Given the description of an element on the screen output the (x, y) to click on. 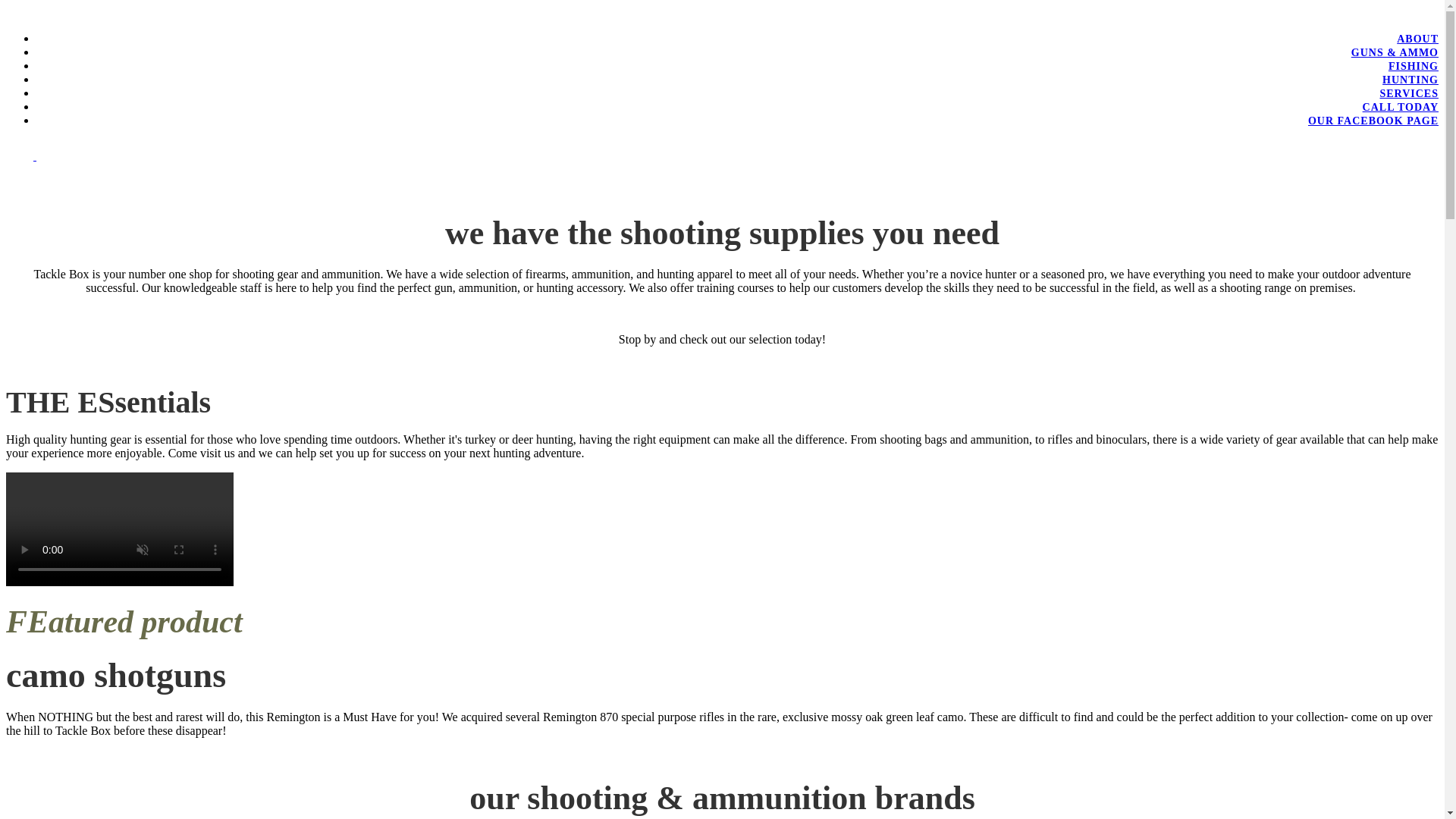
Menu (30, 155)
